Given the description of an element on the screen output the (x, y) to click on. 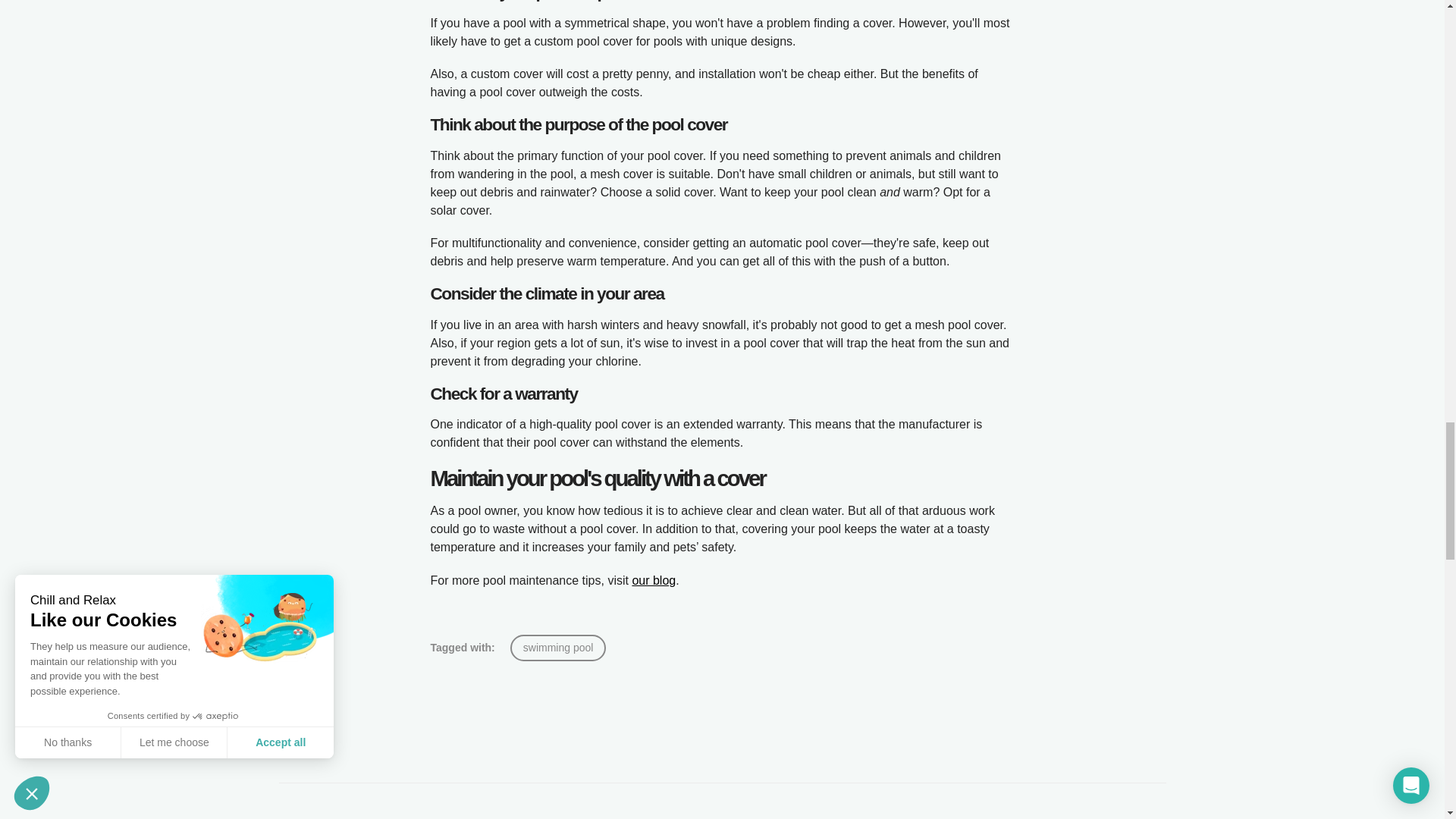
Show articles tagged swimming pool (558, 647)
